Given the description of an element on the screen output the (x, y) to click on. 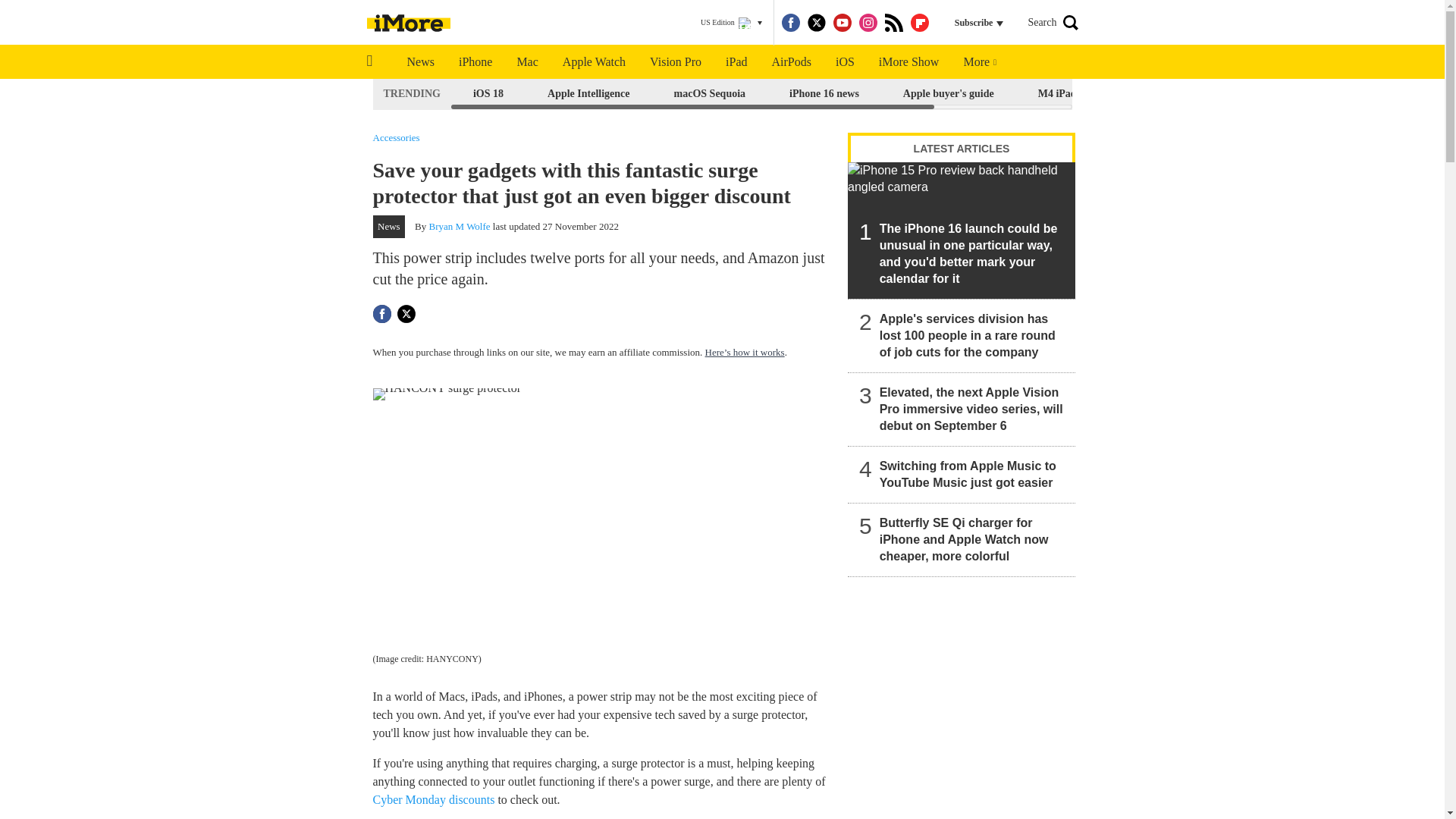
News (419, 61)
Vision Pro (675, 61)
Mac (526, 61)
Apple Watch (593, 61)
AirPods (792, 61)
iPad (735, 61)
iOS (845, 61)
iPhone (474, 61)
iMore Show (909, 61)
